Given the description of an element on the screen output the (x, y) to click on. 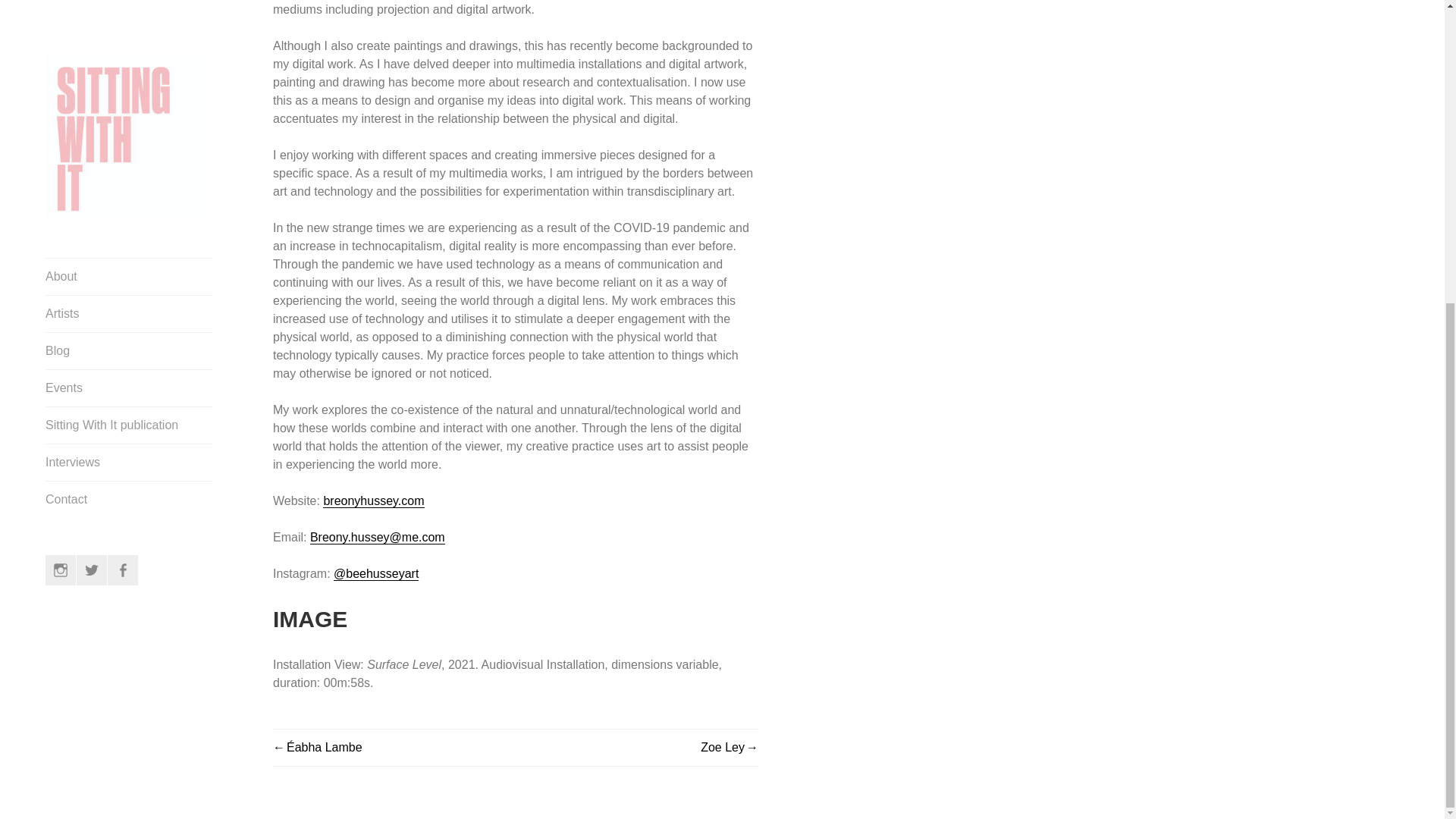
Zoe Ley (729, 747)
Contact (128, 26)
Interviews (128, 3)
Instagram (60, 96)
breonyhussey.com (373, 500)
Facebook (122, 96)
Twitter (91, 96)
